Given the description of an element on the screen output the (x, y) to click on. 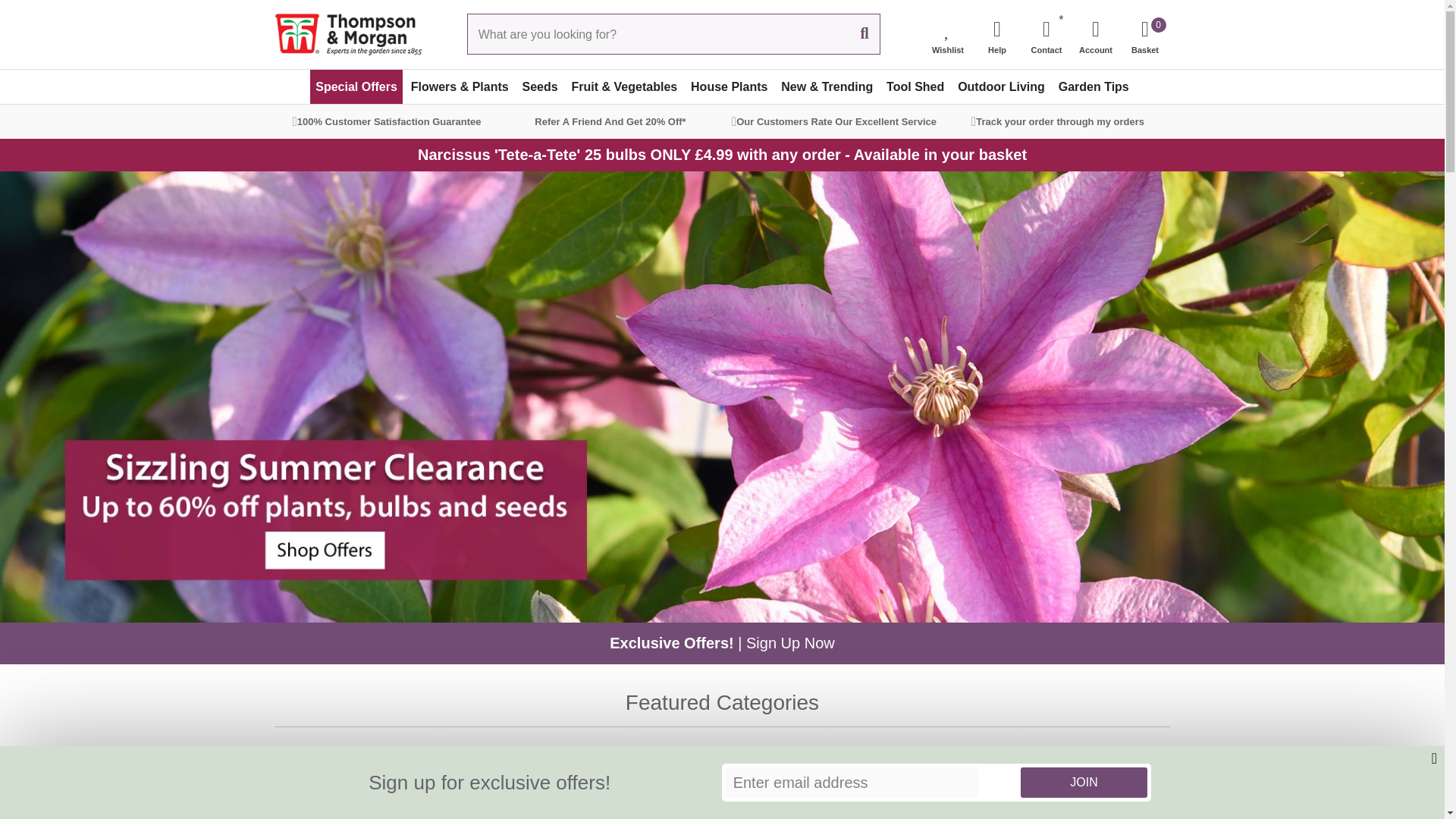
Help (1145, 32)
Join (997, 32)
Wishlist (1083, 782)
Account (947, 32)
Special Offers (1094, 32)
